Given the description of an element on the screen output the (x, y) to click on. 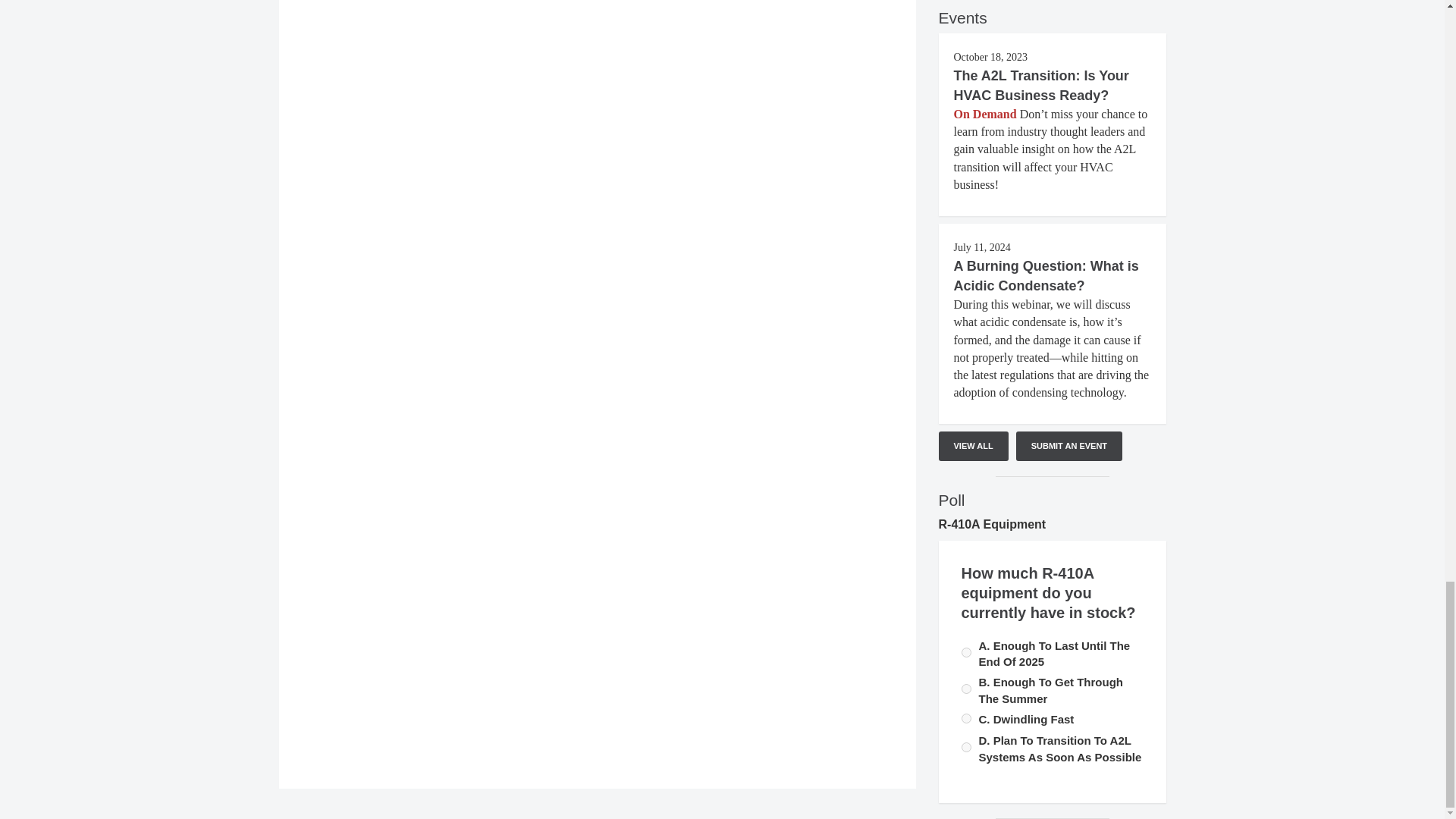
598 (965, 718)
A Burning Question: What is Acidic Condensate? (1045, 275)
The A2L Transition: Is Your HVAC Business Ready? (1041, 85)
596 (965, 688)
599 (965, 747)
597 (965, 652)
